Given the description of an element on the screen output the (x, y) to click on. 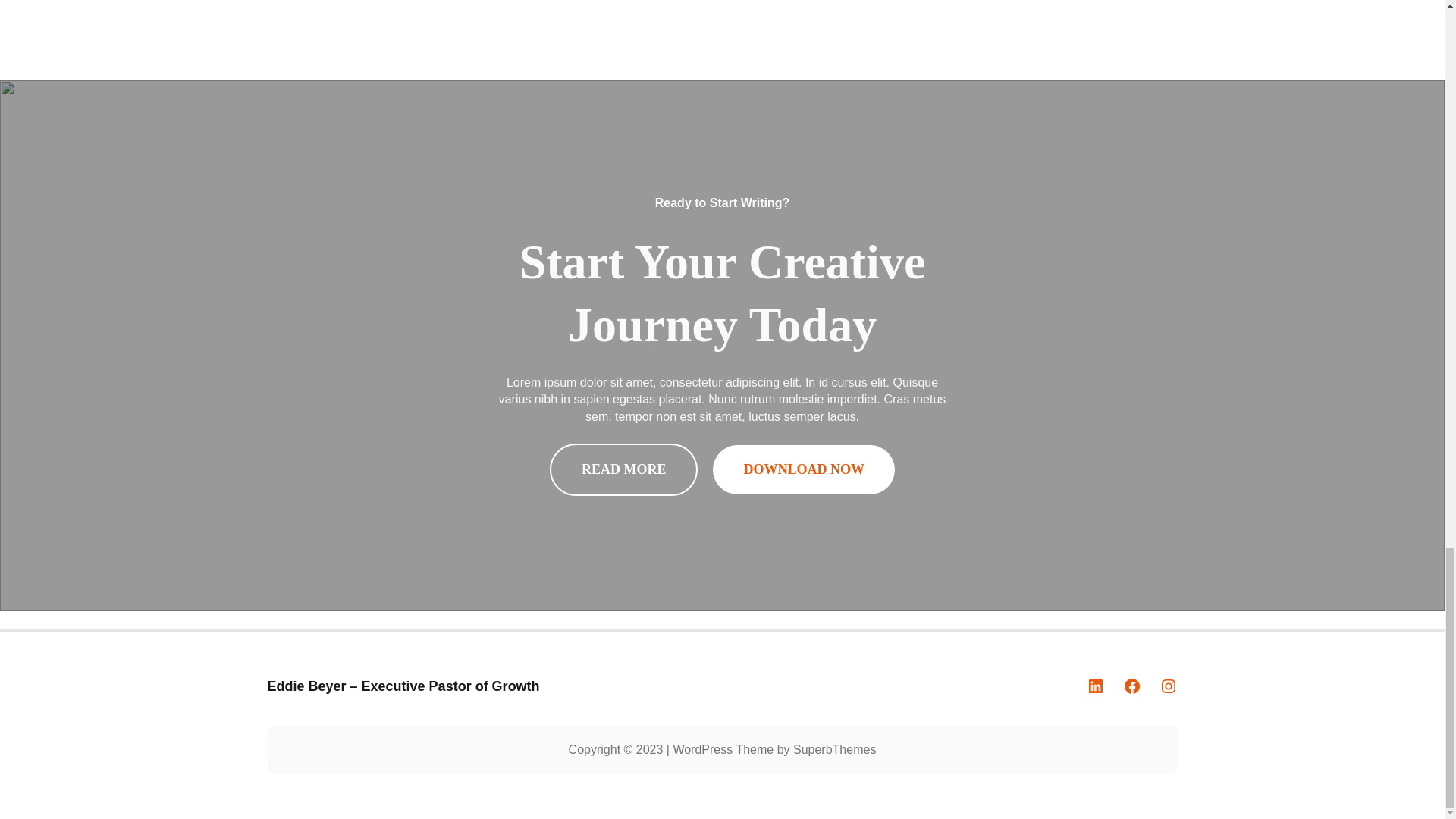
DOWNLOAD NOW (804, 469)
SuperbThemes (834, 748)
Facebook (1131, 686)
Instagram (1167, 686)
READ MORE (624, 469)
LinkedIn (1094, 686)
